Given the description of an element on the screen output the (x, y) to click on. 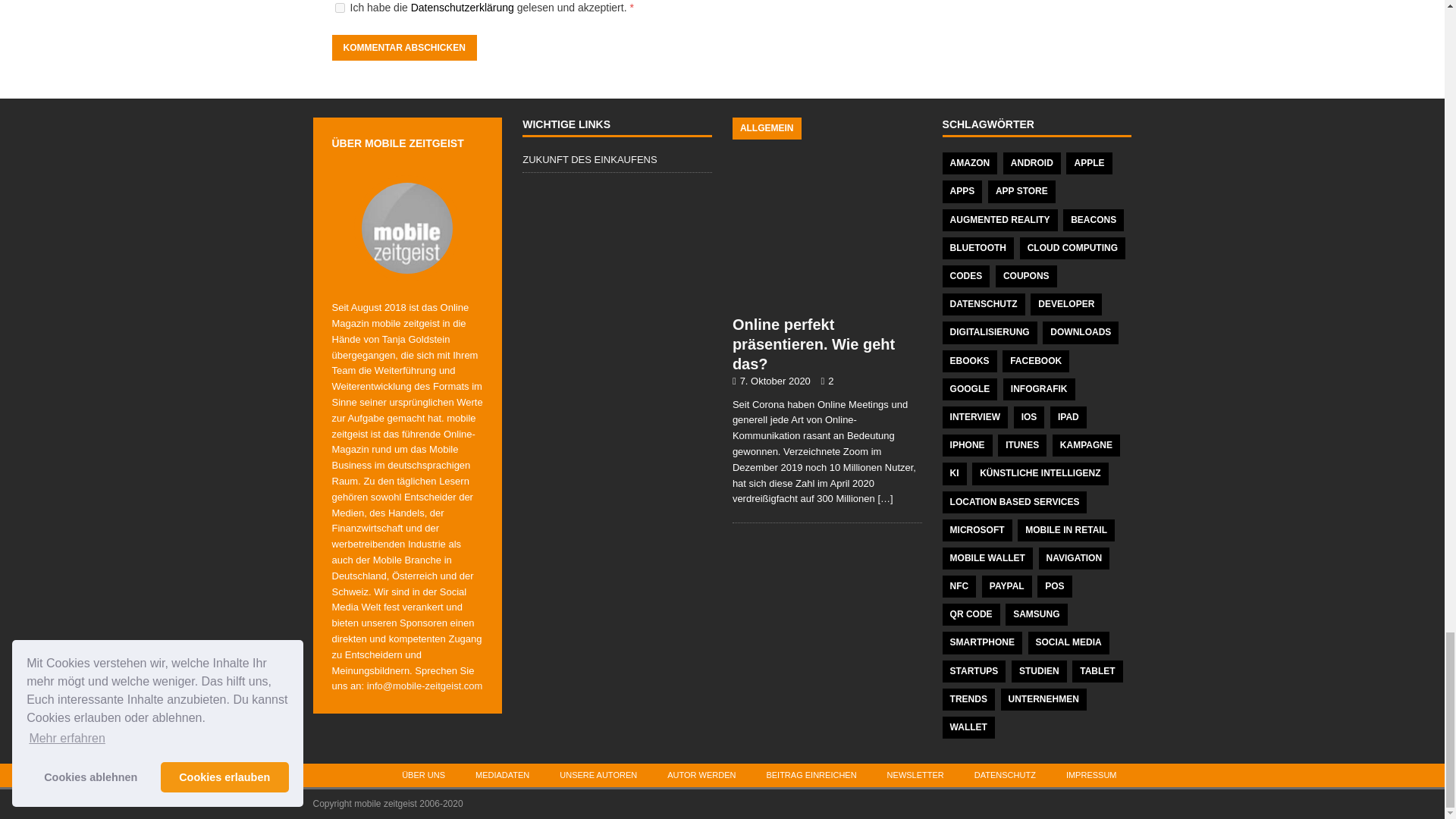
Kommentar abschicken (404, 47)
policy-key (339, 8)
